Given the description of an element on the screen output the (x, y) to click on. 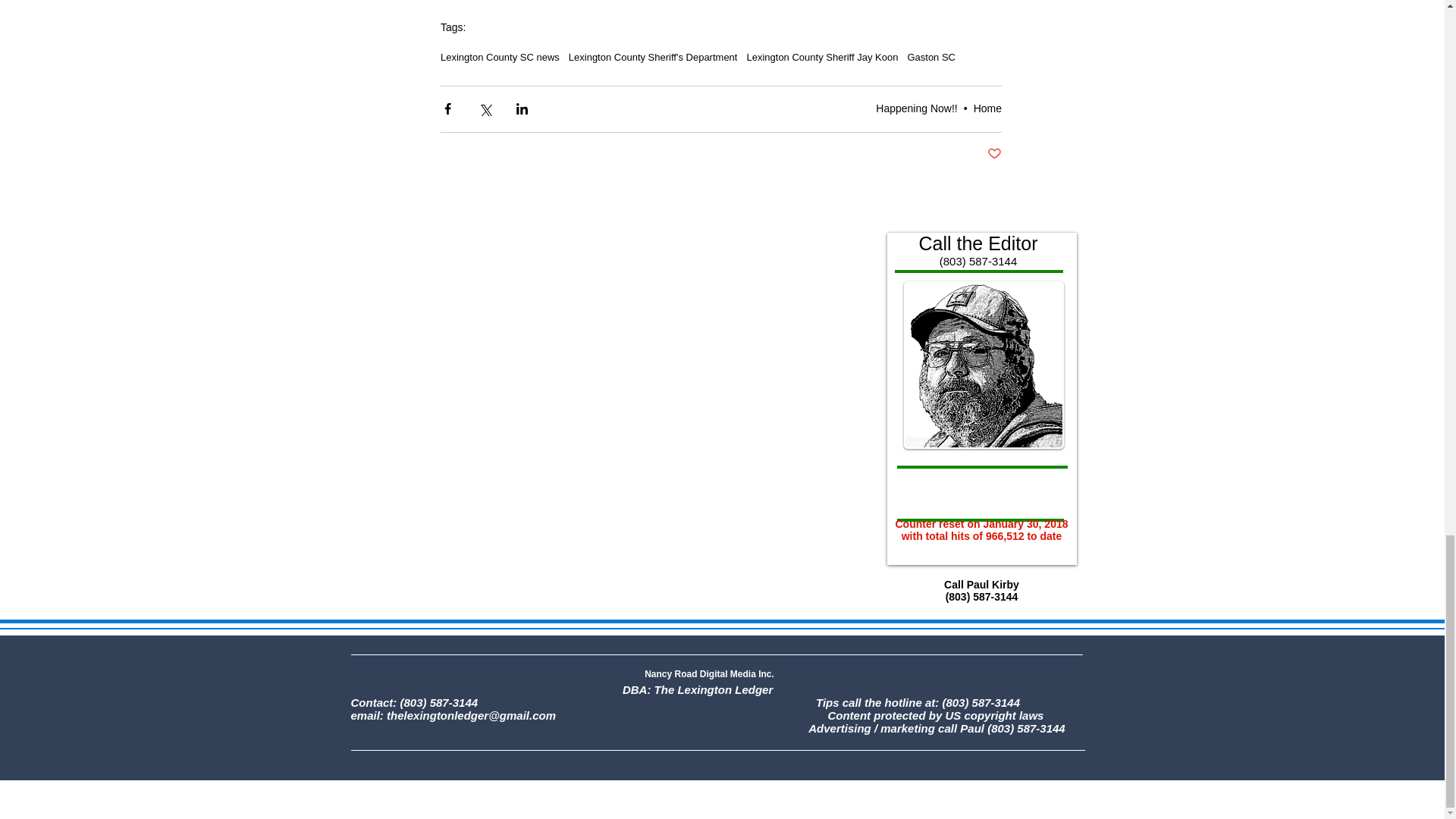
Lexington County Sheriff's Department (653, 57)
Lexington County SC news (500, 57)
Happening Now!! (916, 108)
Post not marked as liked (994, 154)
Lexington County Sheriff Jay Koon (821, 57)
Home (987, 108)
Gaston SC (931, 57)
